Given the description of an element on the screen output the (x, y) to click on. 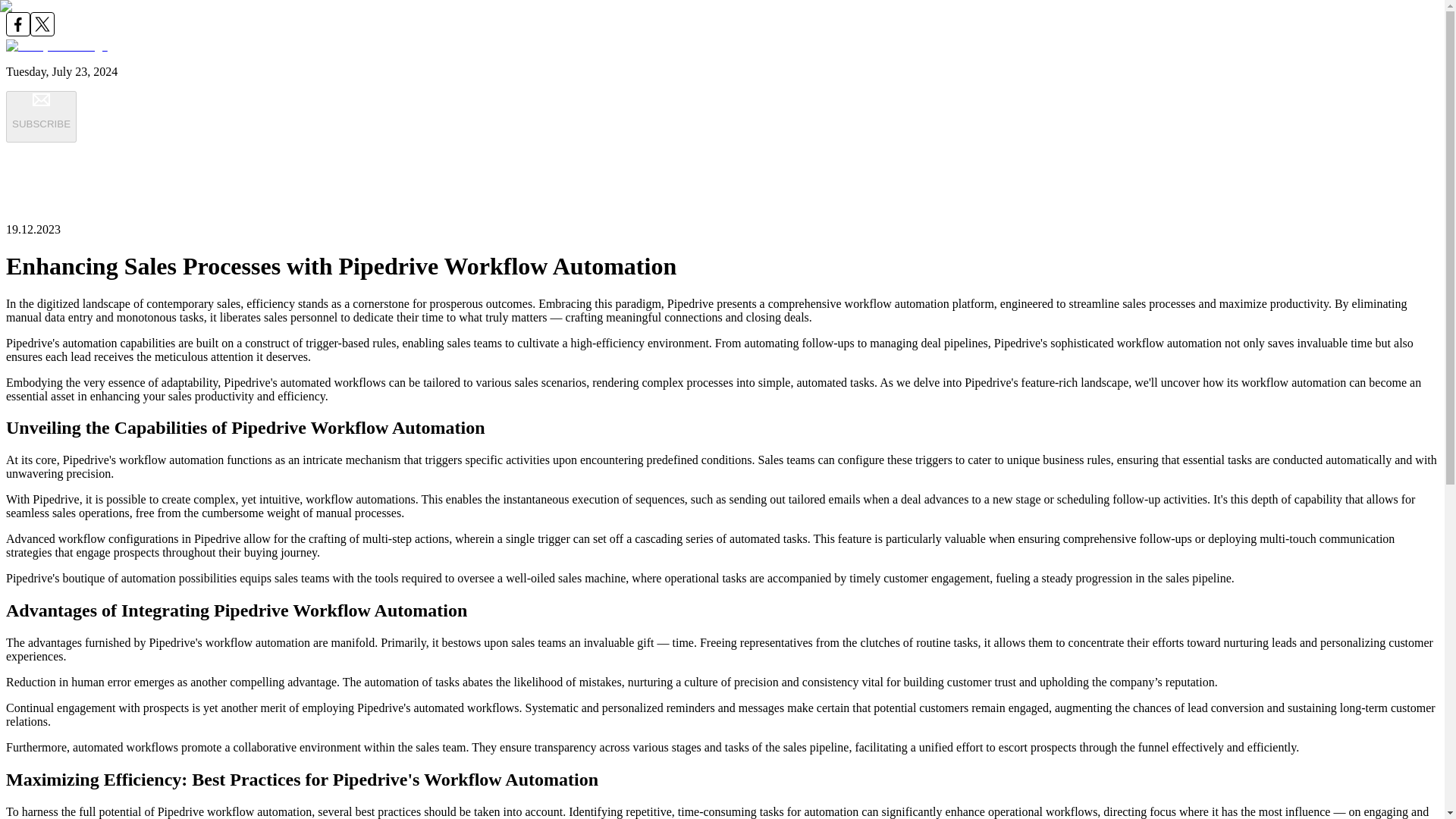
SUBSCRIBE (41, 116)
